Given the description of an element on the screen output the (x, y) to click on. 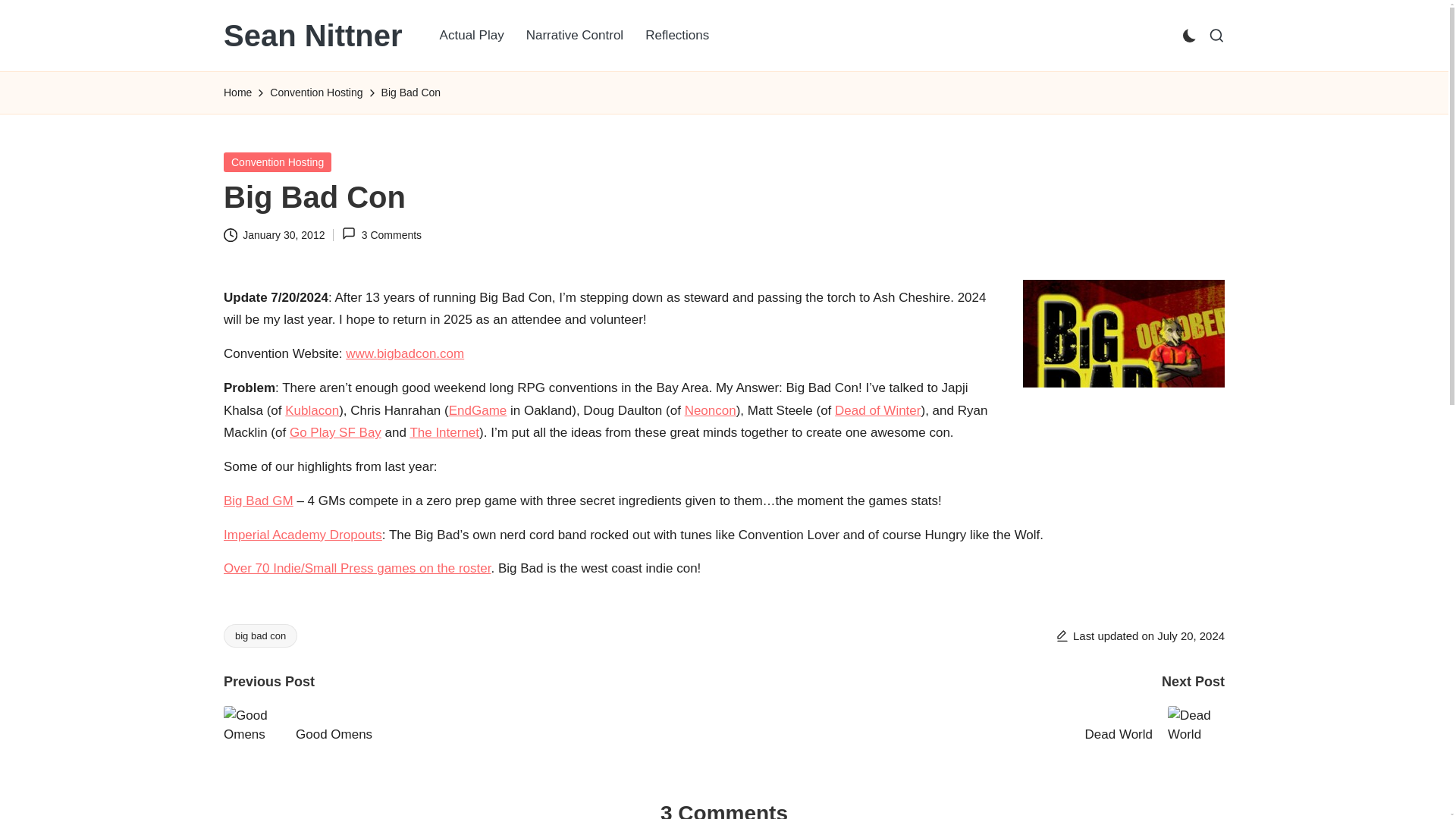
Good Omens (473, 733)
Actual Play (472, 35)
Imperial Academy Dropouts (302, 534)
Dead World (973, 733)
Big Bad Con (405, 353)
Home (237, 92)
The Internet (444, 432)
Go Play SF Bay (335, 432)
Narrative Control (574, 35)
Dead of Winter (877, 410)
Reflections (676, 35)
Convention Hosting (277, 161)
Big Bad GM (259, 500)
www.bigbadcon.com (405, 353)
EndGame (477, 410)
